Given the description of an element on the screen output the (x, y) to click on. 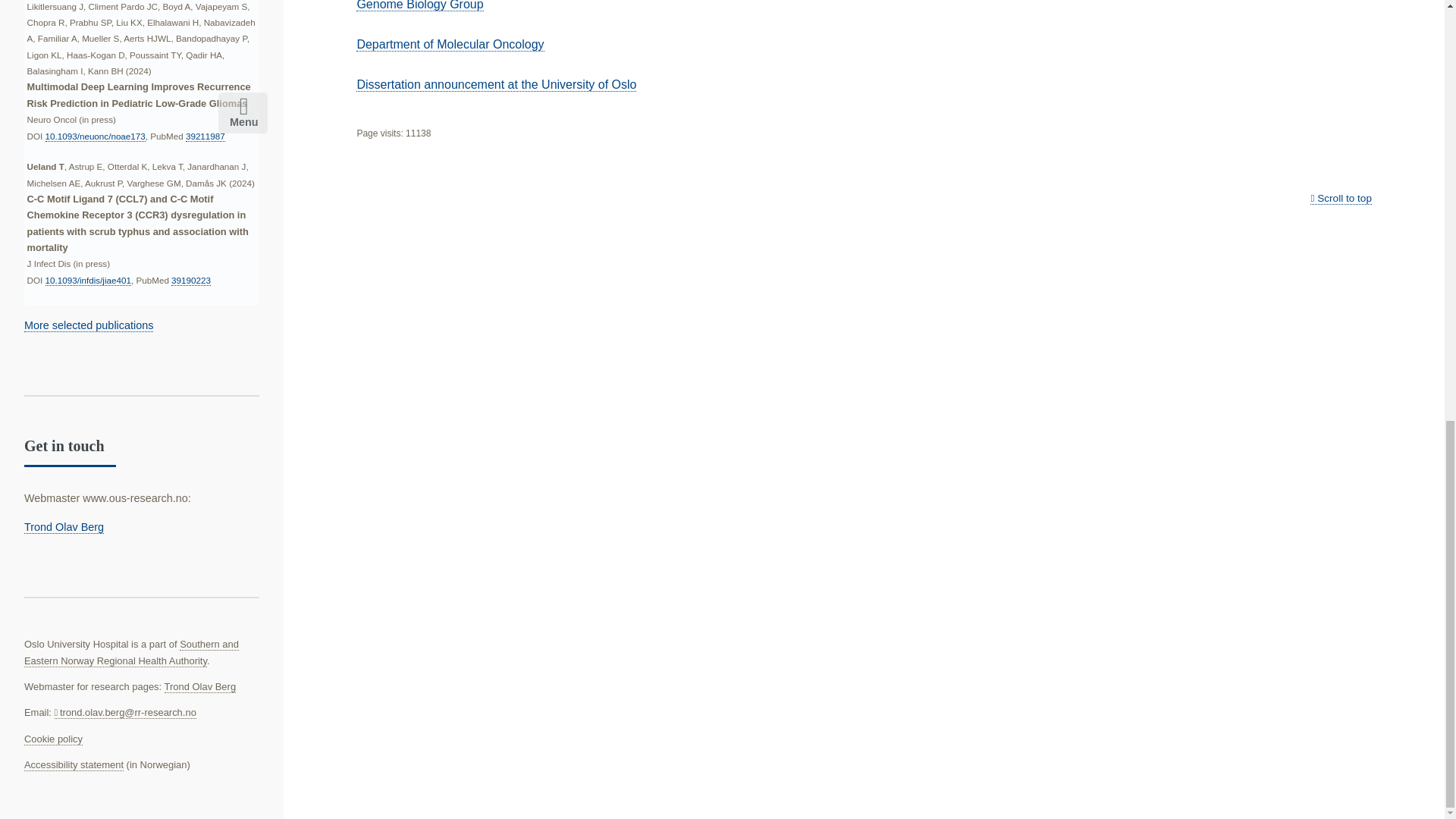
Department of Molecular Oncology (449, 44)
Dissertation announcement at the University of Oslo (496, 84)
Genome Biology Group (419, 5)
Scroll to top (1340, 198)
